Given the description of an element on the screen output the (x, y) to click on. 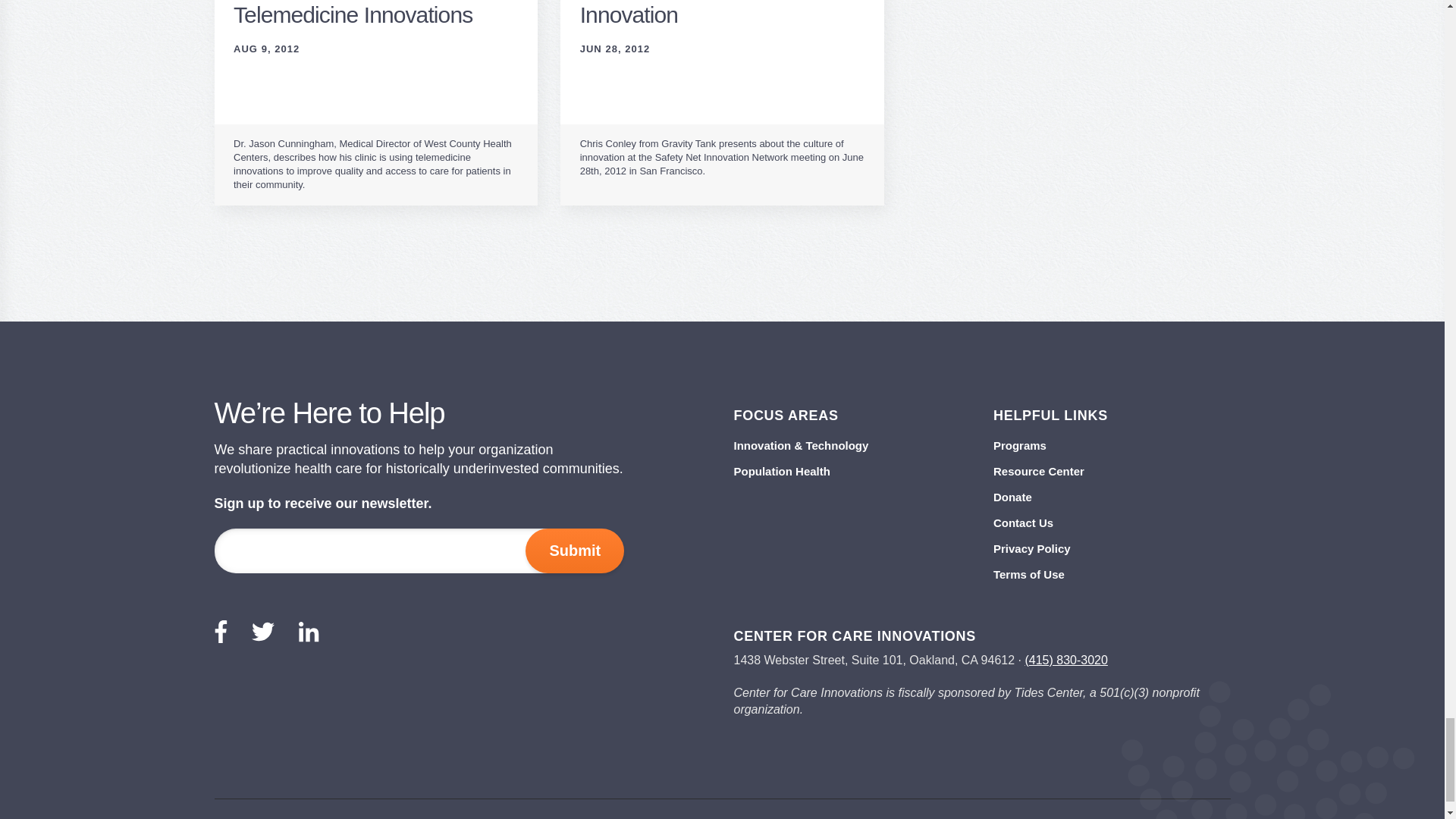
Submit (574, 550)
Email (400, 550)
